Given the description of an element on the screen output the (x, y) to click on. 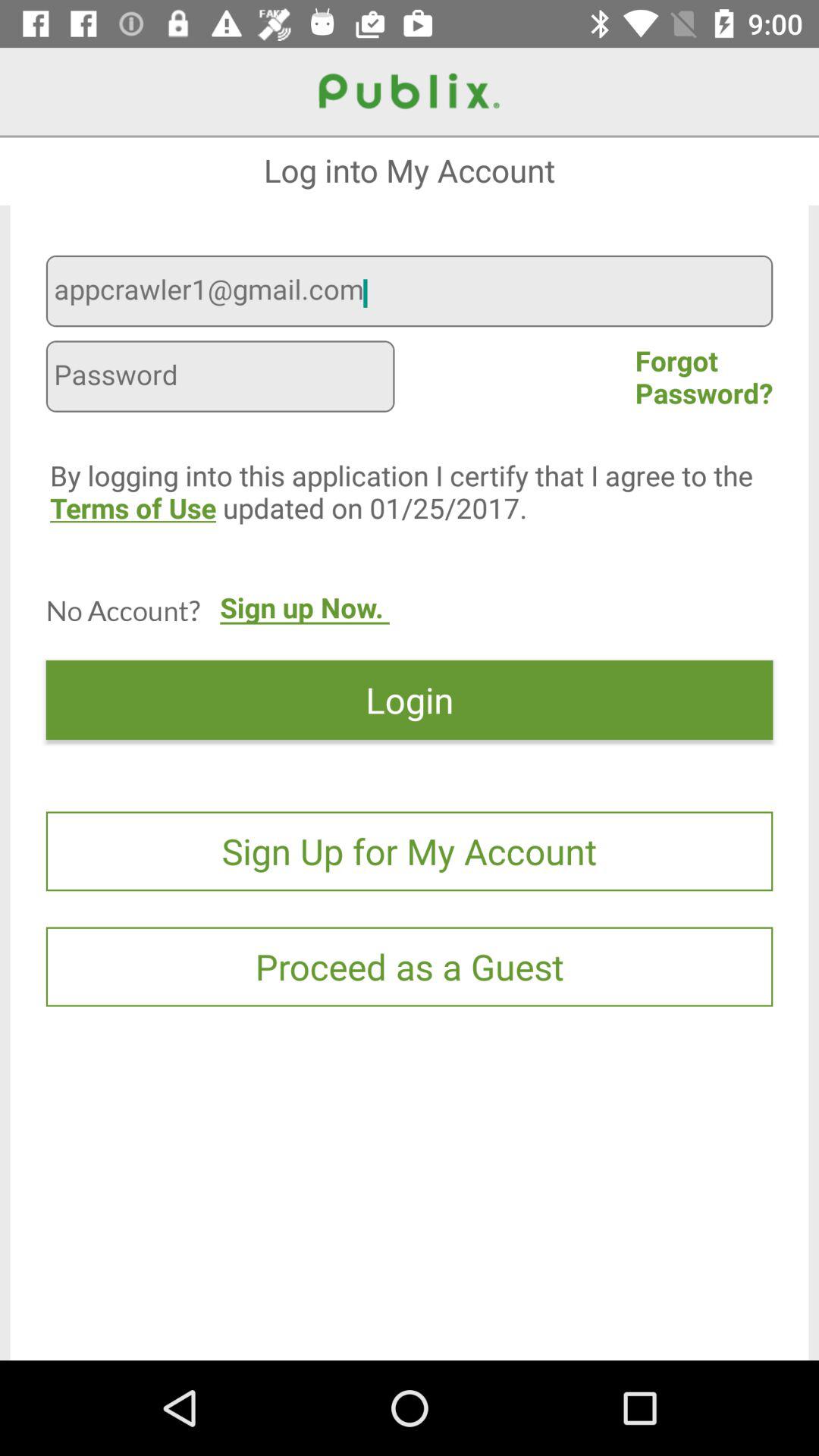
choose the icon below appcrawler1@gmail.com (220, 378)
